Given the description of an element on the screen output the (x, y) to click on. 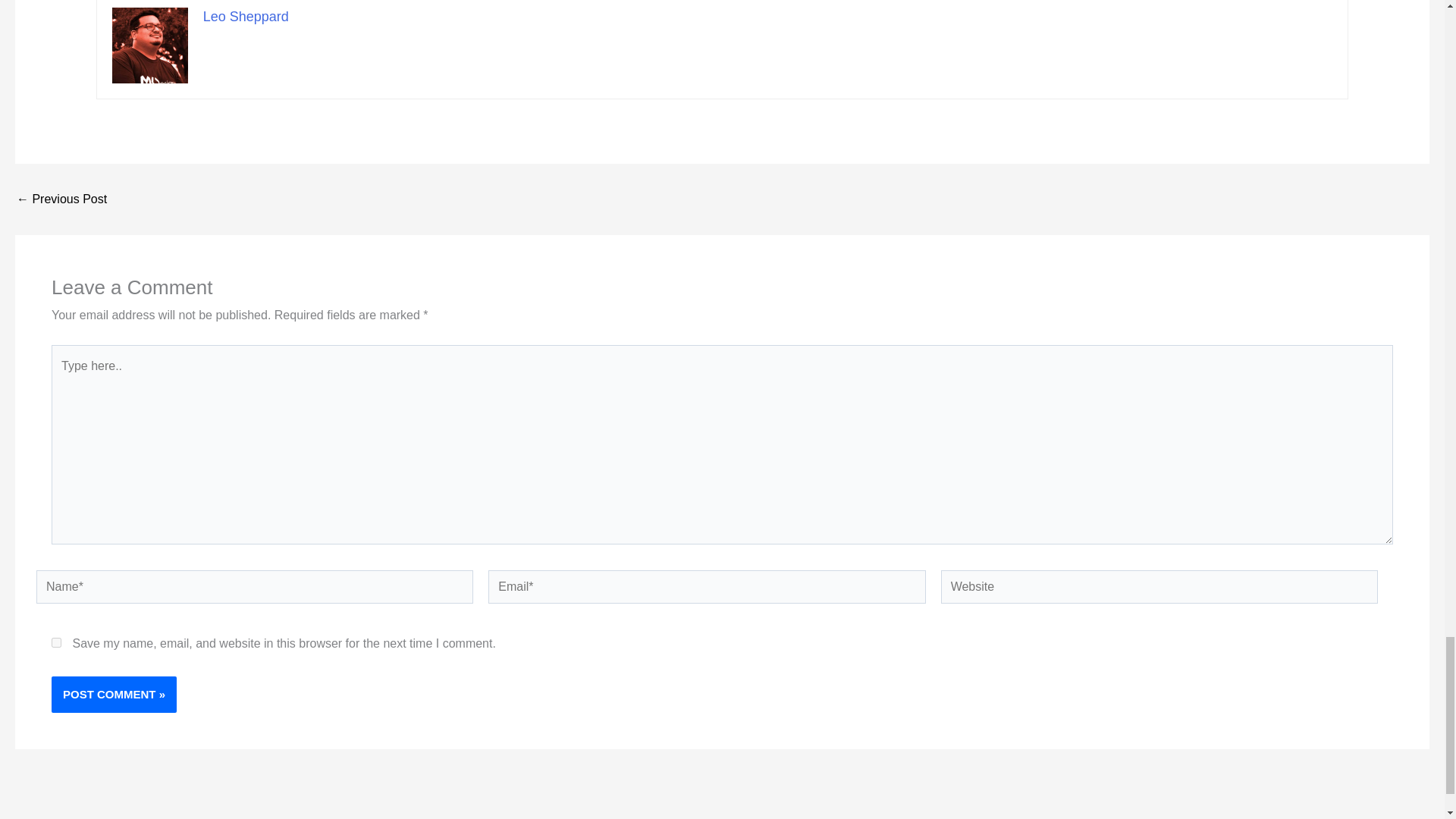
Easy Methods to Fix Windows Update Error 0x80d02002 (61, 199)
yes (55, 642)
Leo Sheppard (245, 16)
